Given the description of an element on the screen output the (x, y) to click on. 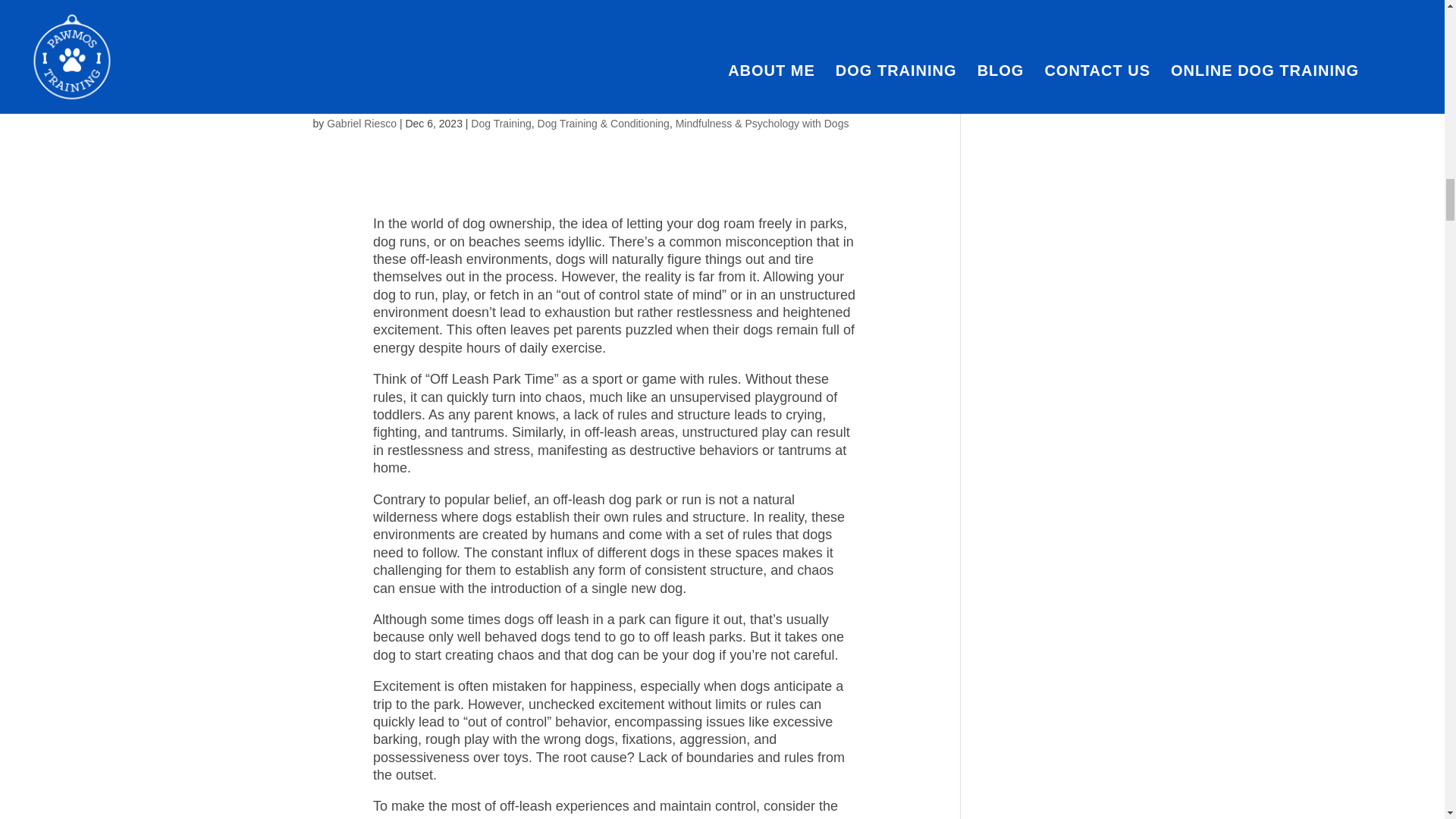
Dog Training (500, 123)
Posts by Gabriel Riesco (361, 123)
Gabriel Riesco (361, 123)
